Given the description of an element on the screen output the (x, y) to click on. 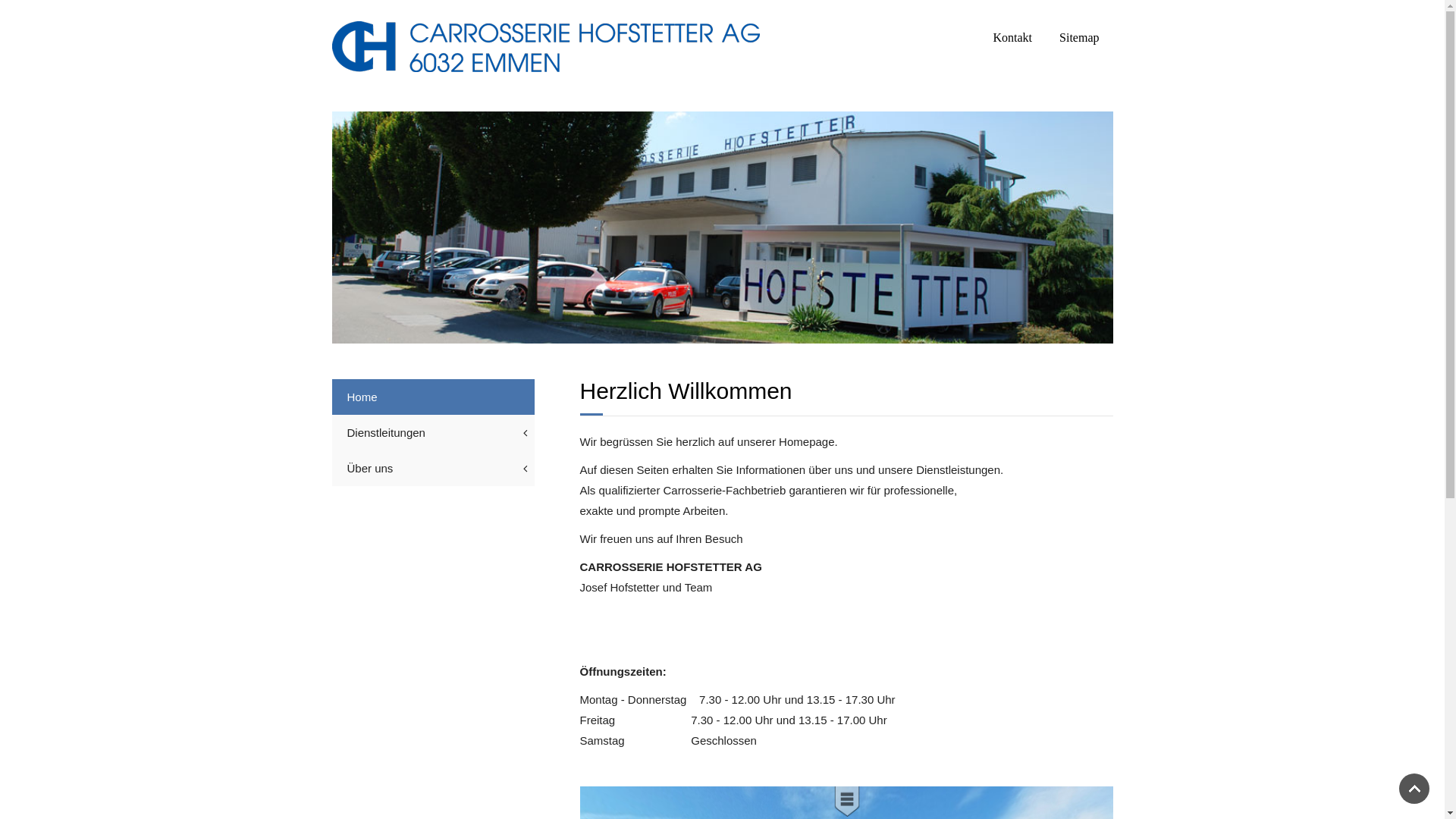
Dienstleitungen Element type: text (433, 432)
Sitemap Element type: text (1078, 37)
Kontakt Element type: text (1012, 37)
Home Element type: text (433, 396)
